Given the description of an element on the screen output the (x, y) to click on. 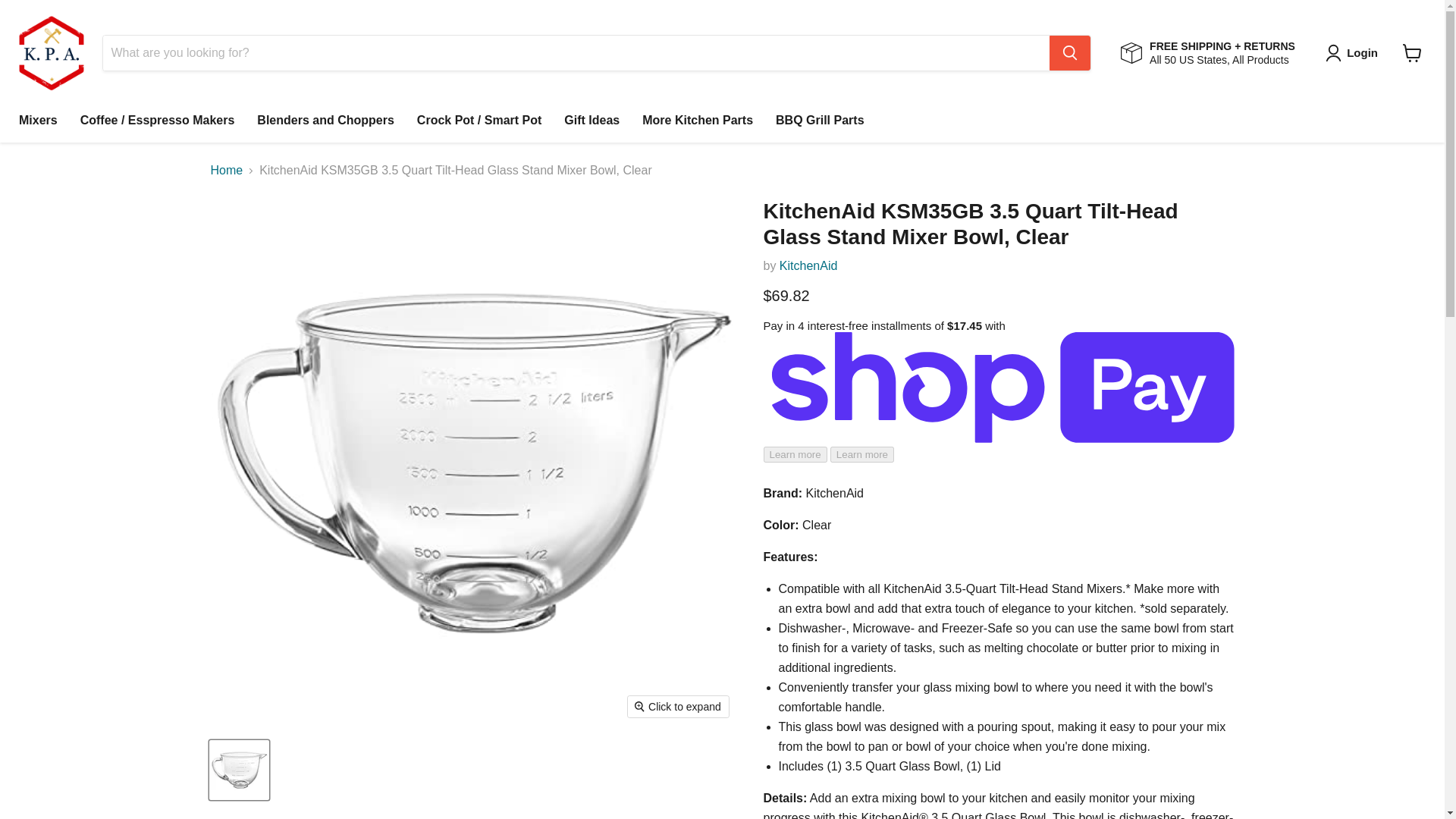
Home (227, 170)
Click to expand (678, 706)
BBQ Grill Parts (819, 120)
Blenders and Choppers (325, 120)
Login (1354, 53)
KitchenAid (808, 265)
View cart (1411, 52)
KitchenAid (808, 265)
Gift Ideas (591, 120)
More Kitchen Parts (697, 120)
